Given the description of an element on the screen output the (x, y) to click on. 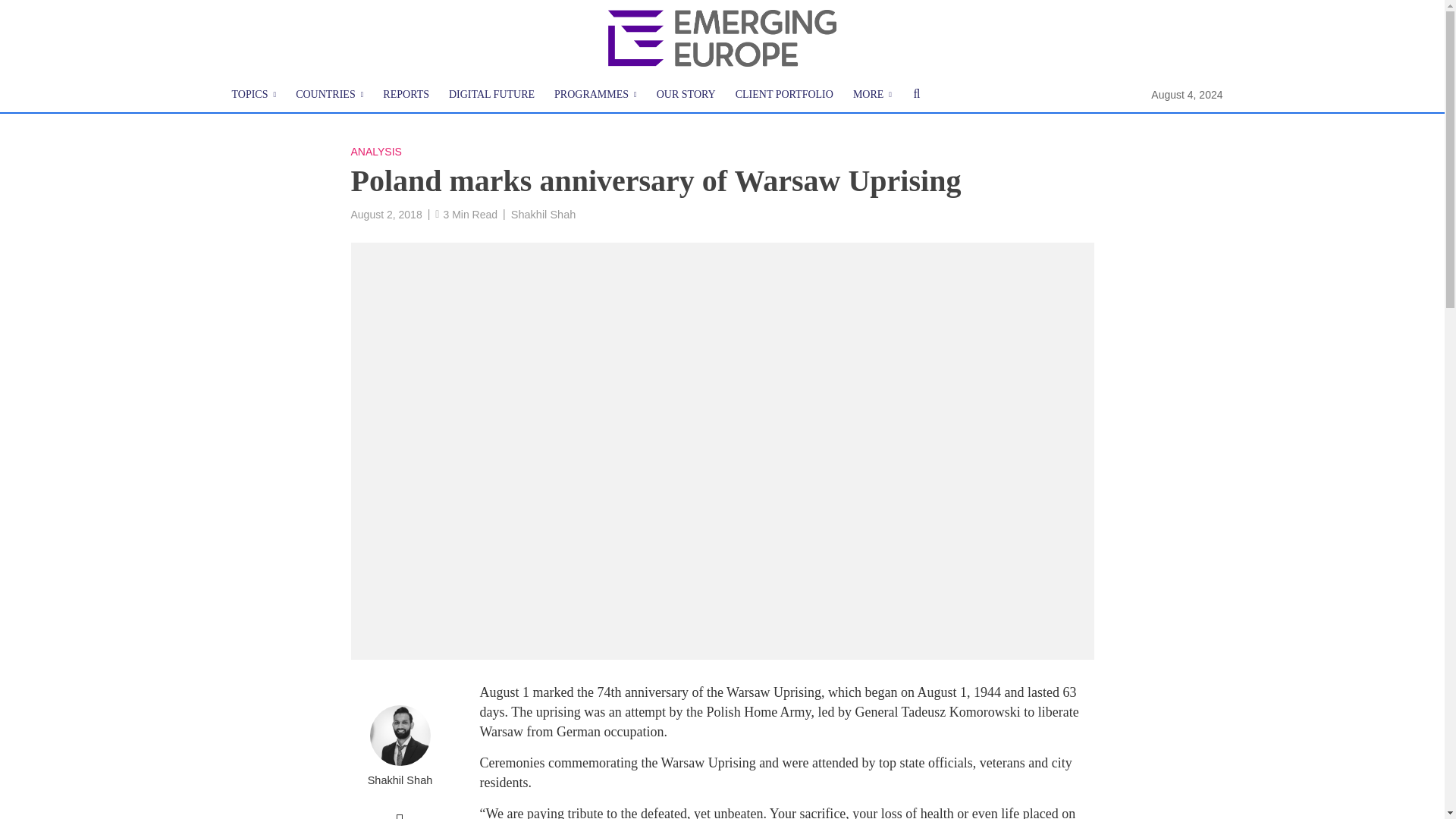
TOPICS (253, 94)
COUNTRIES (328, 94)
REPORTS (405, 94)
PROGRAMMES (595, 94)
DIGITAL FUTURE (491, 94)
